Given the description of an element on the screen output the (x, y) to click on. 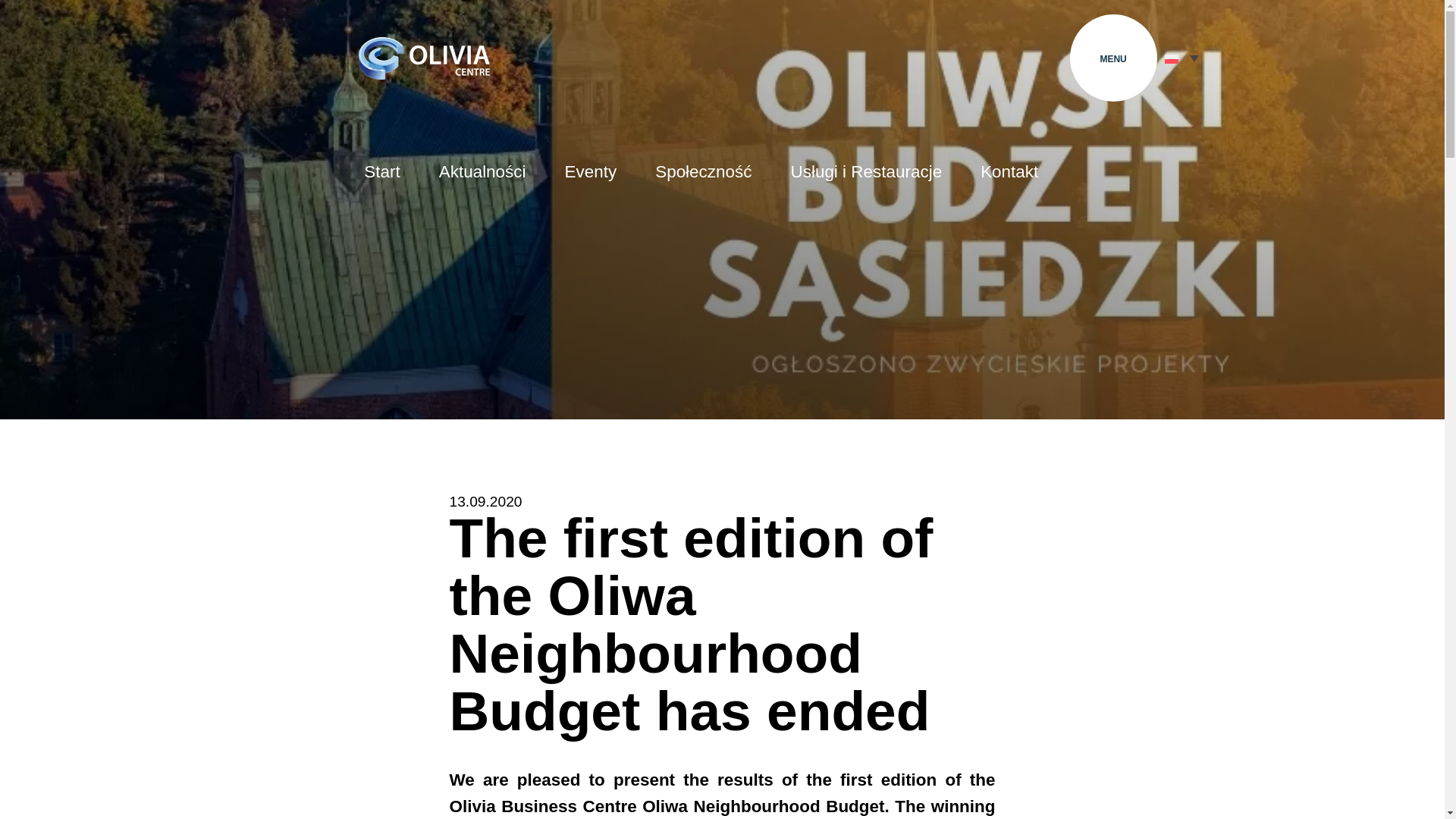
Start (381, 174)
